Given the description of an element on the screen output the (x, y) to click on. 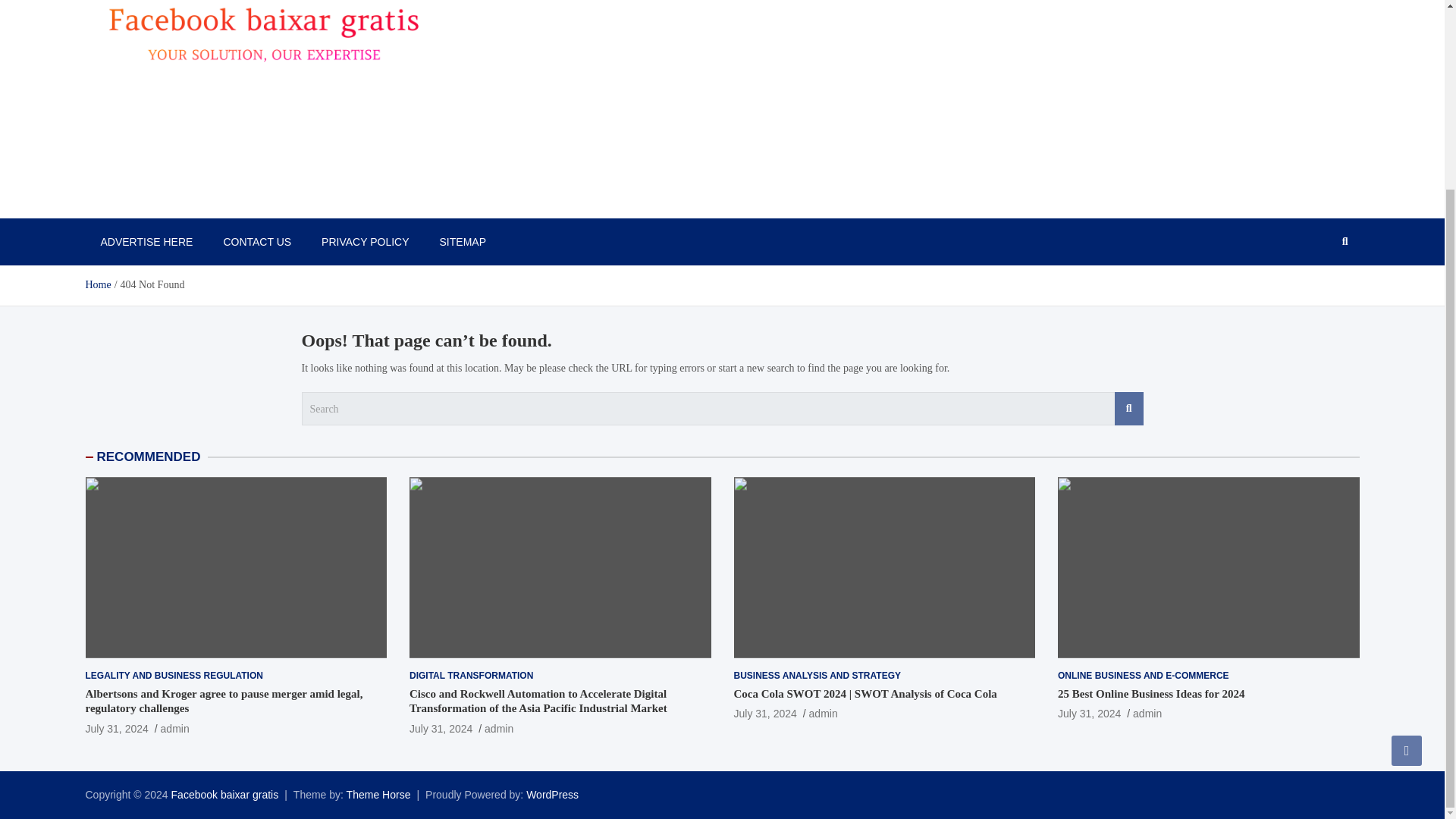
July 31, 2024 (440, 728)
DIGITAL TRANSFORMATION (470, 676)
Theme Horse (378, 794)
SITEMAP (462, 241)
WordPress (551, 794)
25 Best Online Business Ideas for 2024 (1089, 713)
Go to Top (1406, 514)
LEGALITY AND BUSINESS REGULATION (173, 676)
CONTACT US (256, 241)
WordPress (551, 794)
Facebook baixar gratis (225, 794)
July 31, 2024 (764, 713)
